Given the description of an element on the screen output the (x, y) to click on. 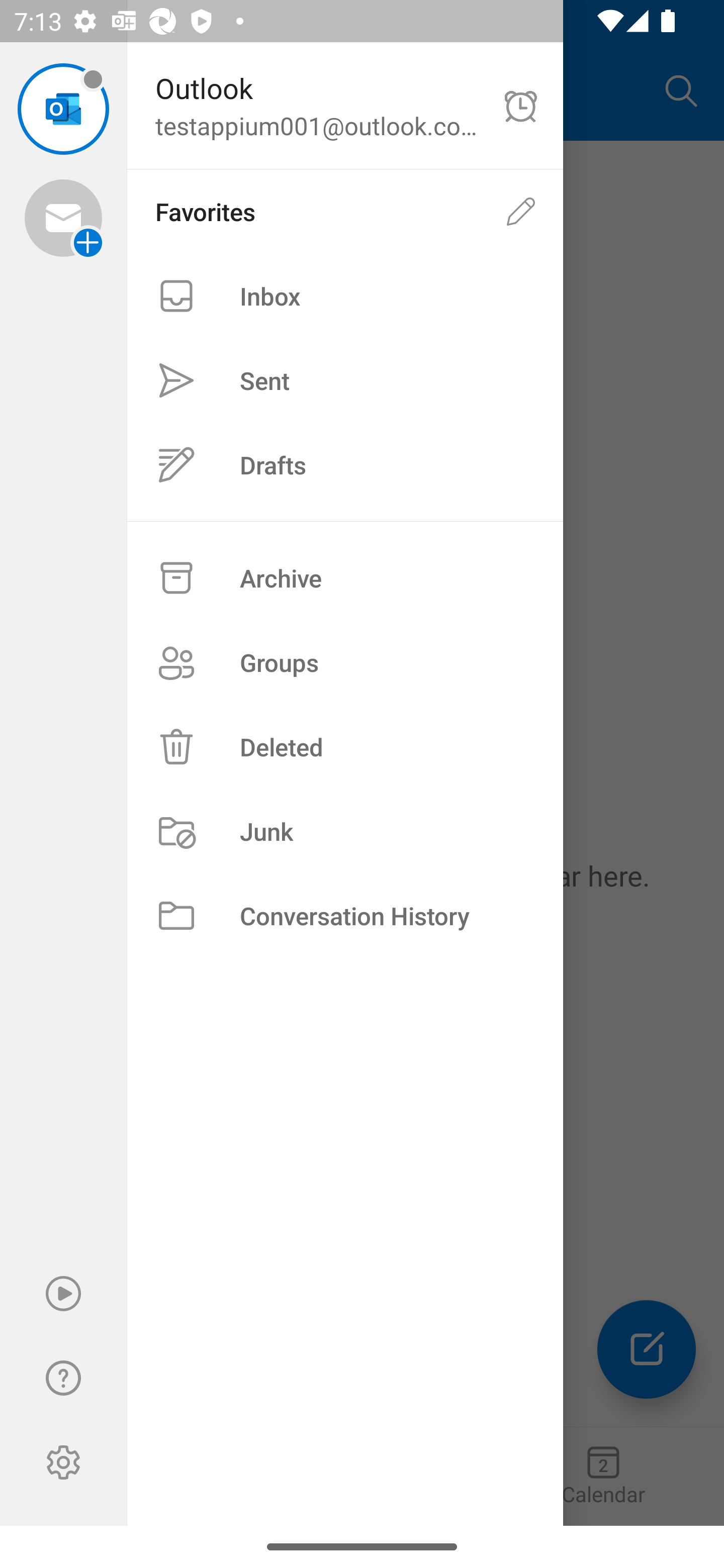
Do not disturb off (520, 105)
testappium001@outlook.com (63, 108)
Edit favorites (520, 211)
Add account (63, 217)
Inbox (345, 296)
Sent (345, 380)
Drafts (345, 464)
Archive (345, 578)
Groups (345, 662)
Deleted (345, 746)
Junk (345, 830)
Conversation History (345, 915)
Play My Emails (62, 1293)
Help (62, 1377)
Settings (62, 1462)
